Given the description of an element on the screen output the (x, y) to click on. 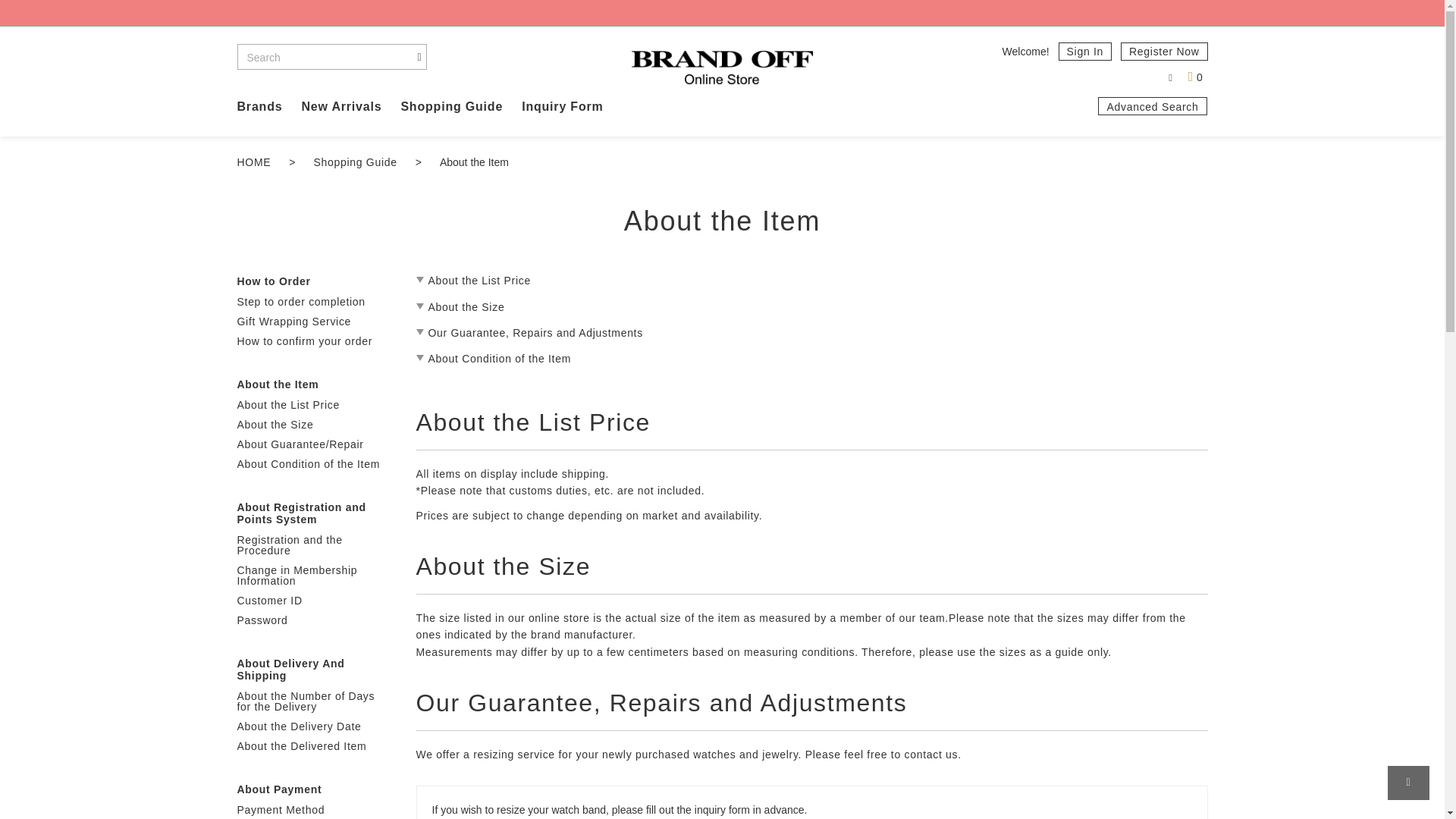
Register Now (1164, 51)
Sign In (1085, 51)
Brands (258, 106)
0 (1196, 77)
